Given the description of an element on the screen output the (x, y) to click on. 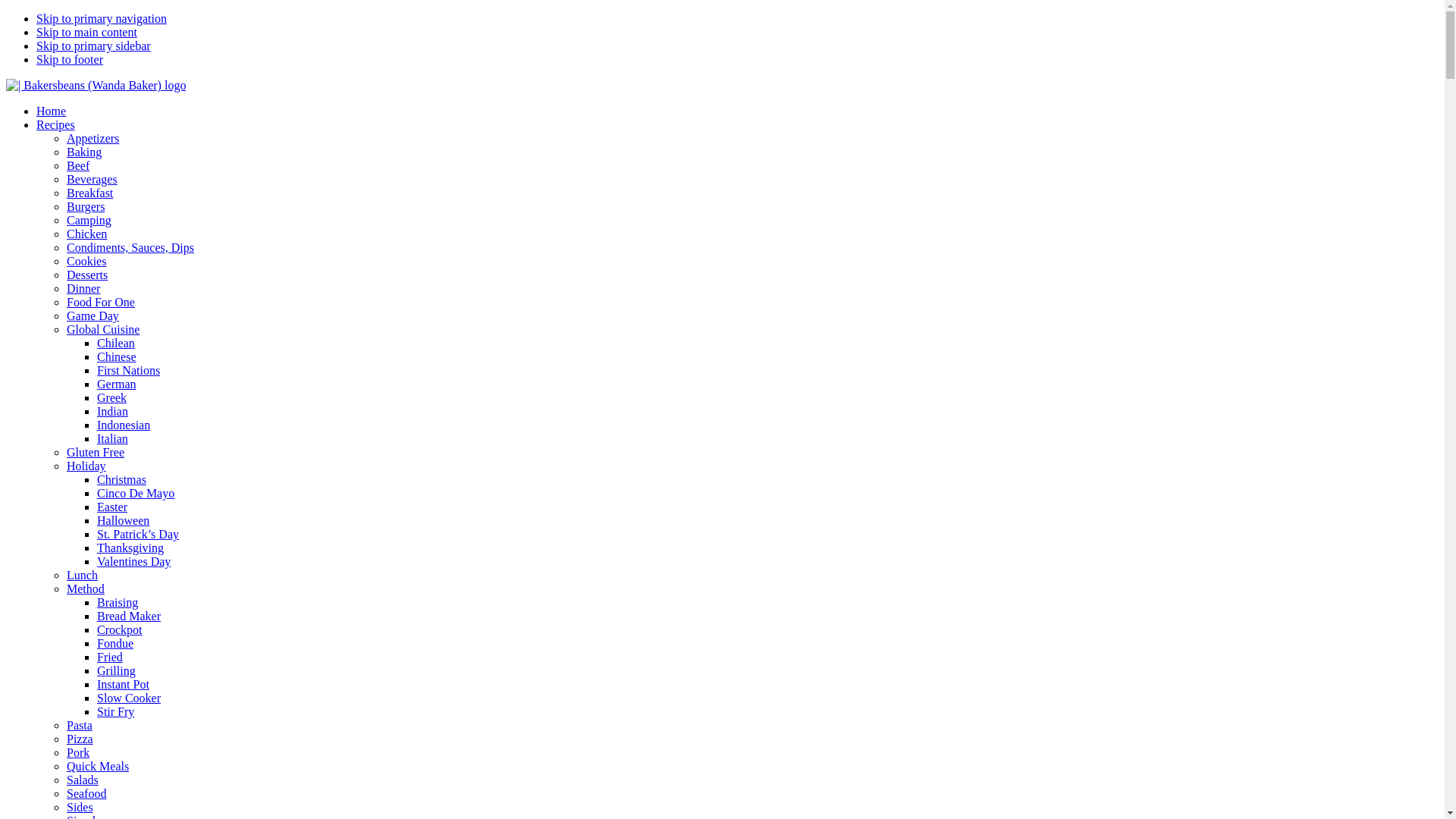
German Element type: text (116, 383)
Fried Element type: text (109, 656)
Game Day Element type: text (92, 315)
Sides Element type: text (79, 806)
Beverages Element type: text (91, 178)
Bread Maker Element type: text (128, 615)
Slow Cooker Element type: text (128, 697)
Thanksgiving Element type: text (130, 547)
Italian Element type: text (112, 438)
Burgers Element type: text (85, 206)
Chilean Element type: text (115, 342)
Lunch Element type: text (81, 574)
Fondue Element type: text (115, 643)
Cinco De Mayo Element type: text (135, 492)
Cookies Element type: text (86, 260)
Halloween Element type: text (123, 520)
Breakfast Element type: text (89, 192)
Christmas Element type: text (121, 479)
First Nations Element type: text (128, 370)
Global Cuisine Element type: text (102, 329)
Braising Element type: text (117, 602)
Pasta Element type: text (79, 724)
Condiments, Sauces, Dips Element type: text (130, 247)
| Bakersbeans (Wanda Baker) Element type: hover (95, 84)
Stir Fry Element type: text (115, 711)
Grilling Element type: text (116, 670)
Beef Element type: text (77, 165)
Baking Element type: text (83, 151)
Chicken Element type: text (86, 233)
Easter Element type: text (112, 506)
Chinese Element type: text (116, 356)
Appetizers Element type: text (92, 137)
Desserts Element type: text (86, 274)
| Bakersbeans (Wanda Baker) Element type: hover (95, 85)
Skip to footer Element type: text (69, 59)
Crockpot Element type: text (119, 629)
Holiday Element type: text (86, 465)
Indonesian Element type: text (123, 424)
Seafood Element type: text (86, 793)
Home Element type: text (50, 110)
Skip to main content Element type: text (86, 31)
Quick Meals Element type: text (97, 765)
Pork Element type: text (77, 752)
Valentines Day Element type: text (133, 561)
Greek Element type: text (111, 397)
Method Element type: text (85, 588)
Dinner Element type: text (83, 288)
Skip to primary navigation Element type: text (101, 18)
Skip to primary sidebar Element type: text (93, 45)
Salads Element type: text (82, 779)
Gluten Free Element type: text (95, 451)
Recipes Element type: text (55, 124)
Food For One Element type: text (100, 301)
Indian Element type: text (112, 410)
Instant Pot Element type: text (123, 683)
Camping Element type: text (88, 219)
Pizza Element type: text (79, 738)
